Given the description of an element on the screen output the (x, y) to click on. 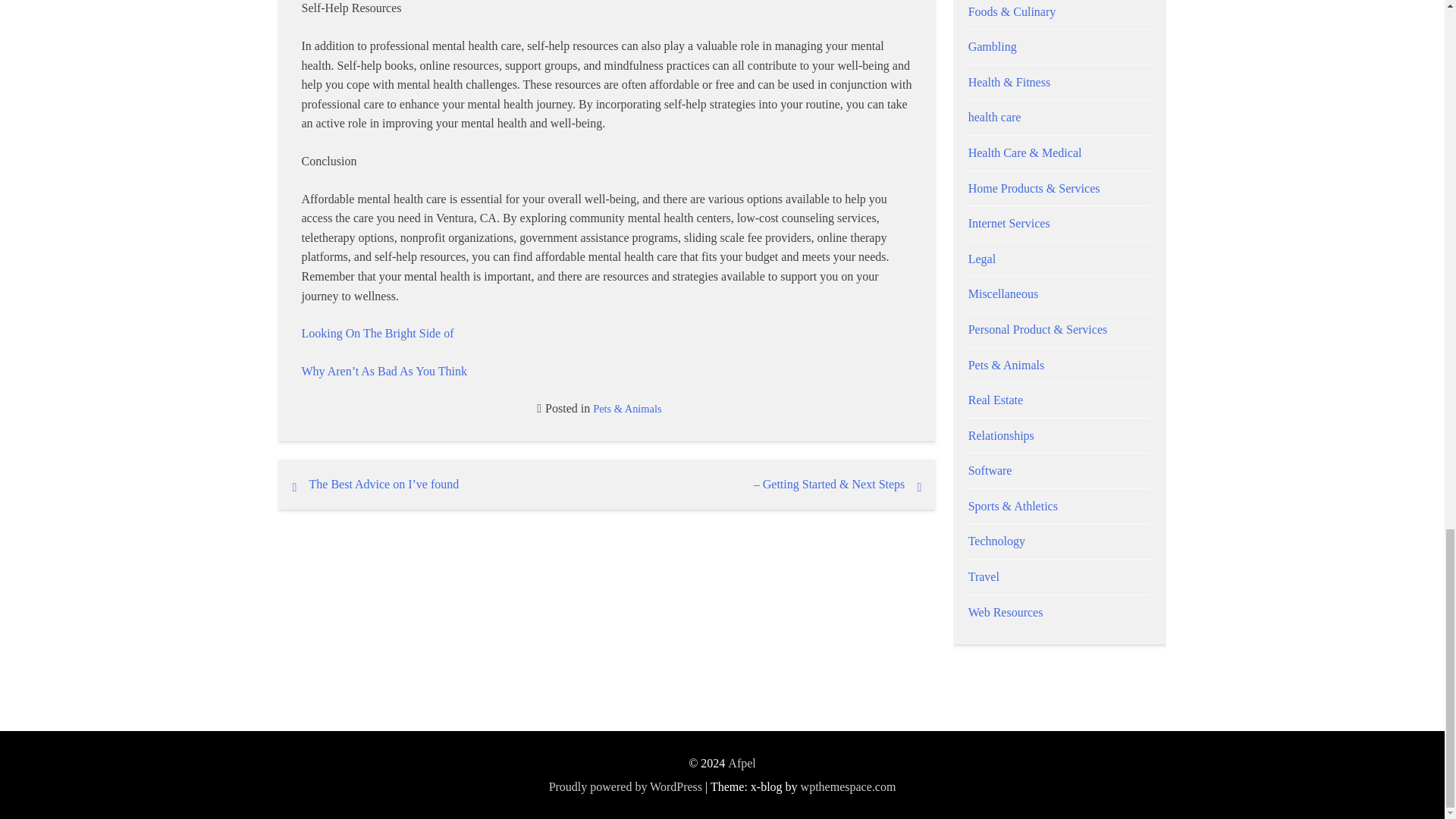
Looking On The Bright Side of (377, 332)
Gambling (992, 46)
